Given the description of an element on the screen output the (x, y) to click on. 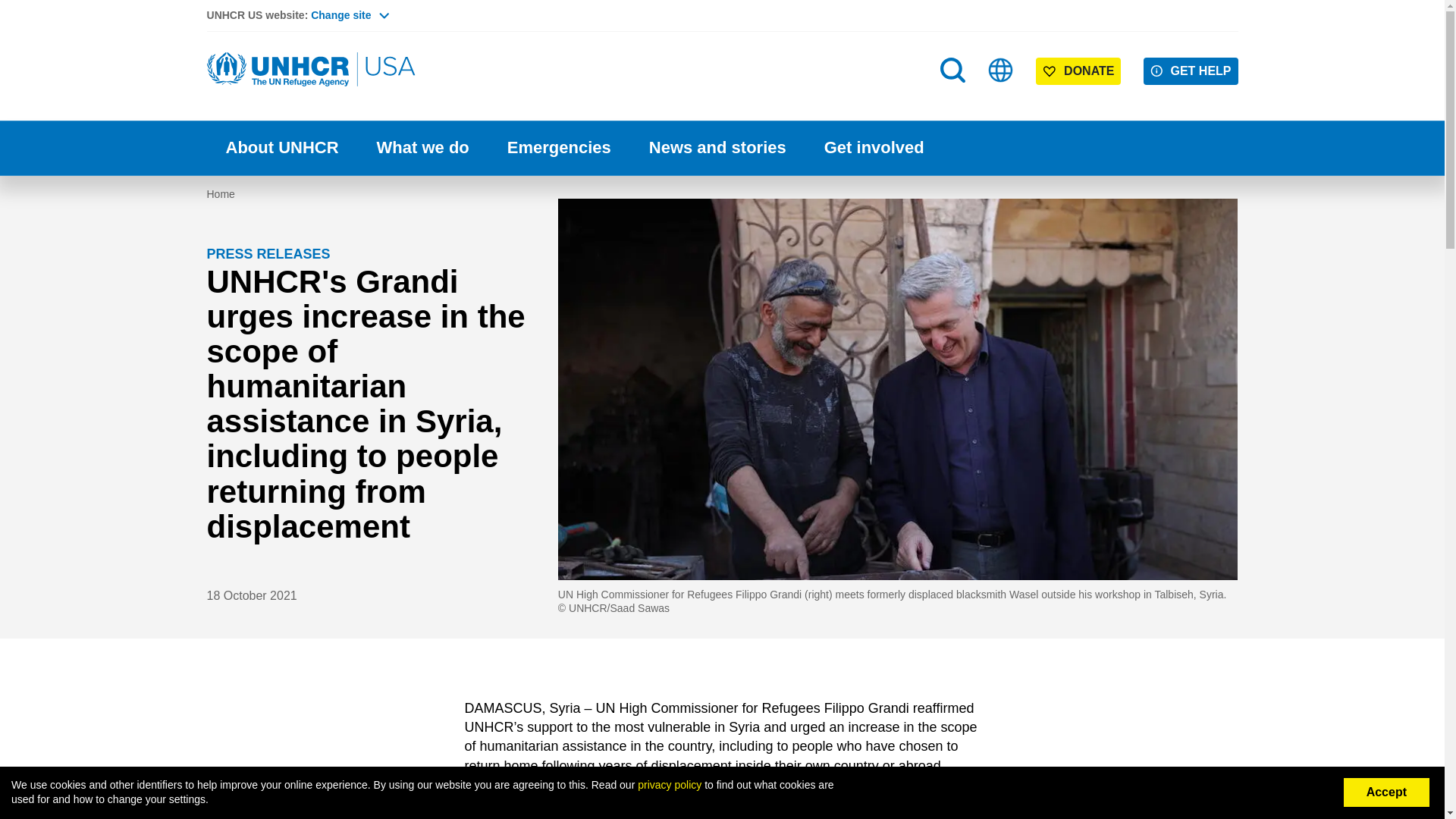
About UNHCR (281, 148)
Skip to main content (721, 1)
Home (312, 69)
Search (954, 99)
Change site (349, 15)
Search (952, 69)
GET HELP (1189, 71)
DONATE (1078, 71)
Sites (1000, 69)
